Given the description of an element on the screen output the (x, y) to click on. 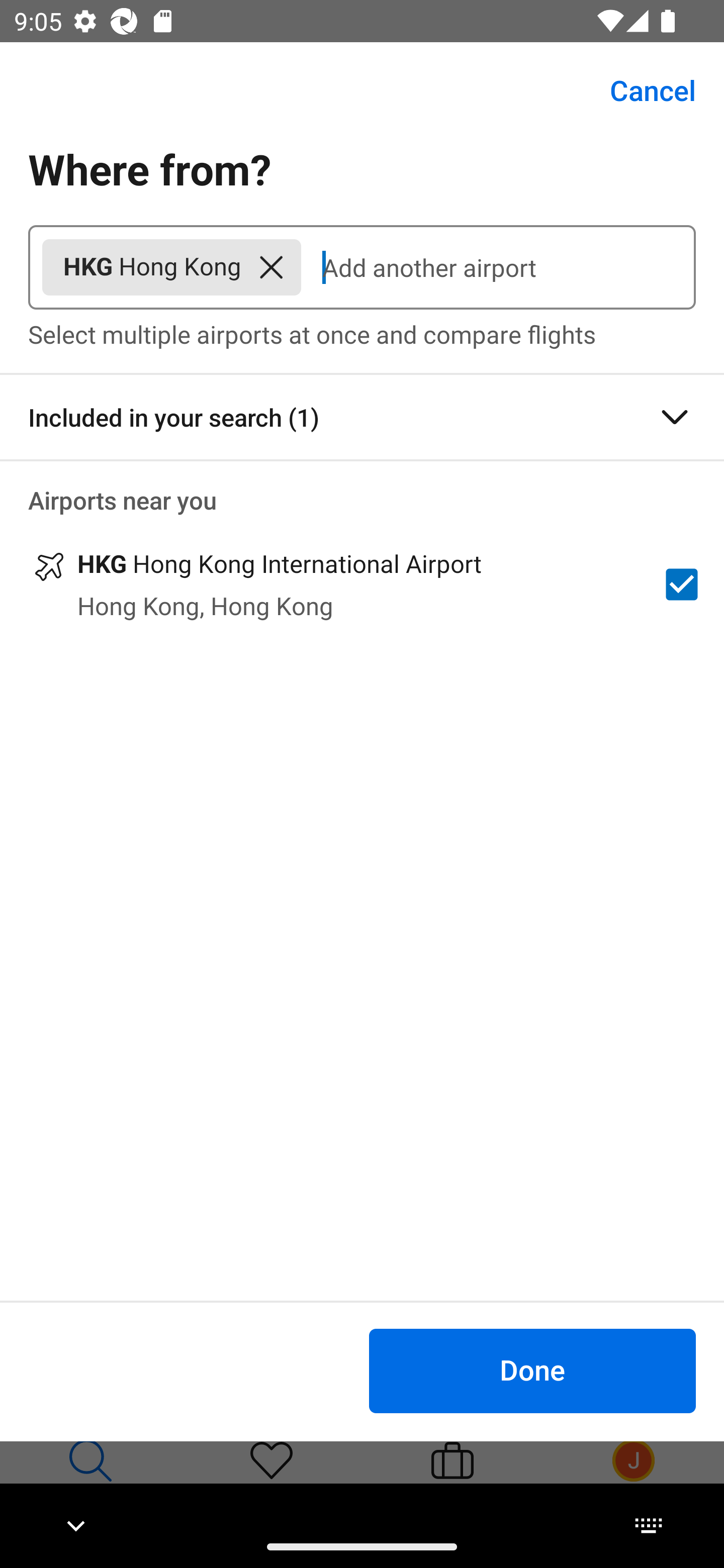
Cancel (641, 90)
Add another airport (498, 266)
HKG Hong Kong Remove HKG Hong Kong (171, 266)
Included in your search (1) (362, 416)
Done (532, 1370)
